Given the description of an element on the screen output the (x, y) to click on. 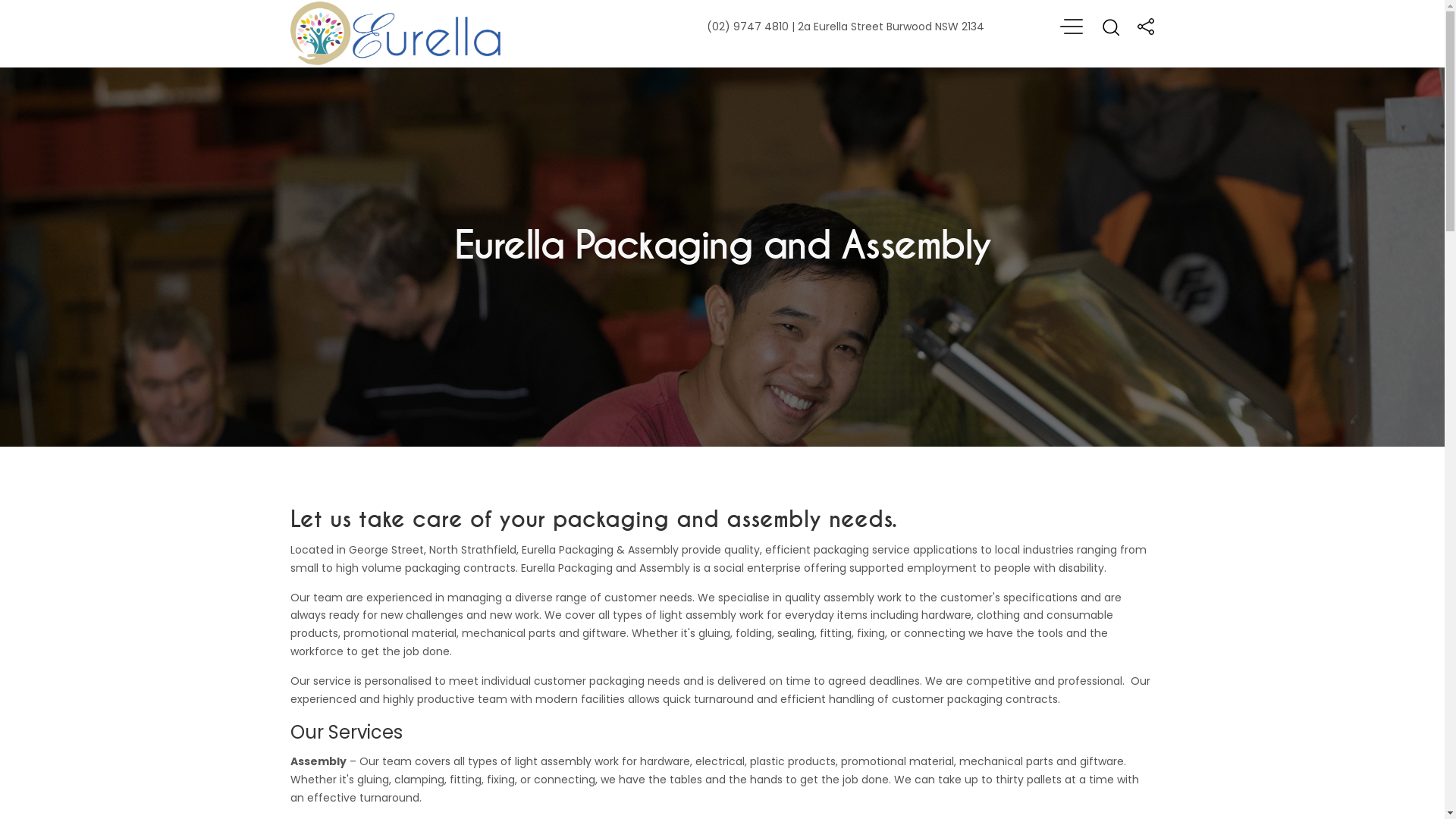
Home Element type: hover (395, 33)
Skip to main content Element type: text (0, 0)
